Given the description of an element on the screen output the (x, y) to click on. 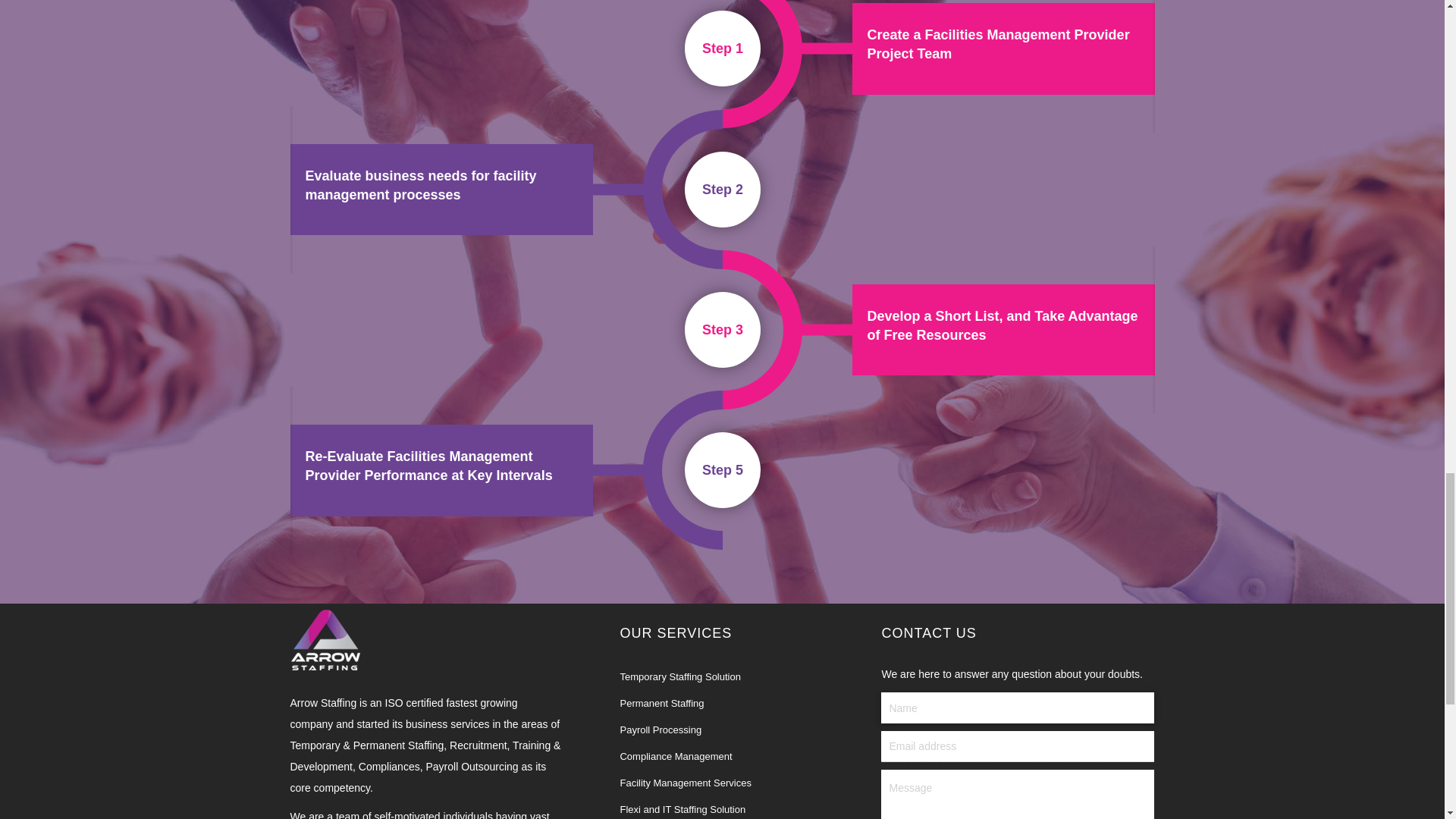
Temporary Staffing Solution (679, 676)
Facility Management Services (685, 782)
Permanent Staffing (661, 703)
Compliance Management (676, 756)
Payroll Processing (660, 729)
Flexi and IT Staffing Solution (682, 808)
